Given the description of an element on the screen output the (x, y) to click on. 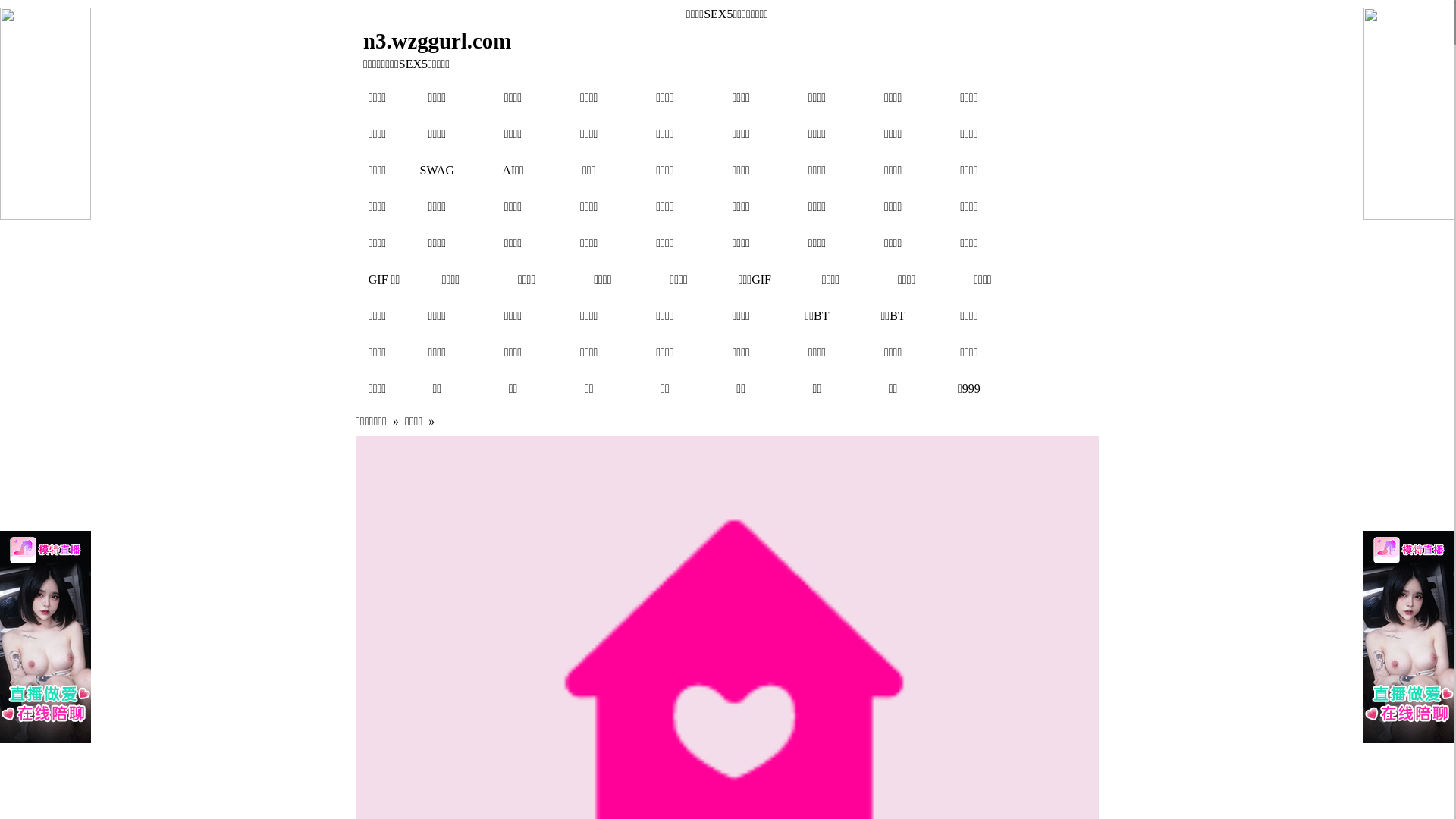
SWAG Element type: text (437, 169)
n3.wzggurl.com Element type: text (634, 40)
